Given the description of an element on the screen output the (x, y) to click on. 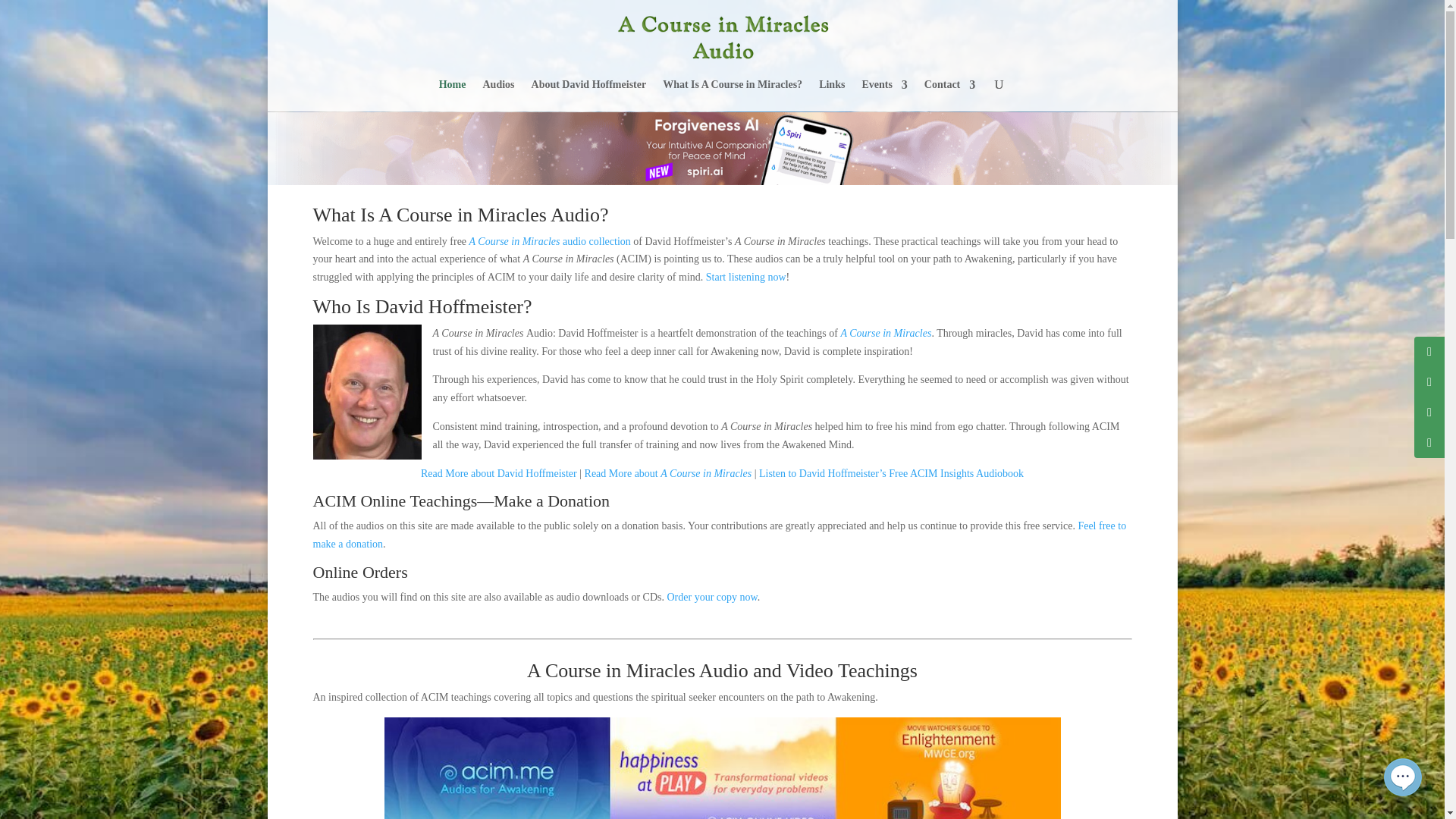
Order your copy now (711, 596)
Audios (497, 95)
Read More about A Course in Miracles (668, 473)
Events (884, 95)
Contact (949, 95)
Events (884, 95)
A Course in Miracles audio collection (549, 240)
Read More about David Hoffmeister (498, 473)
About David Hoffmeister (498, 473)
Start listening now (746, 276)
What Is A Course in Miracles? (732, 95)
ACIM Teachings - Audio, Video, Movies (721, 768)
Feel free to make a donation (719, 534)
About David Hoffmeister (588, 95)
A Course in Miracles (885, 333)
